Given the description of an element on the screen output the (x, y) to click on. 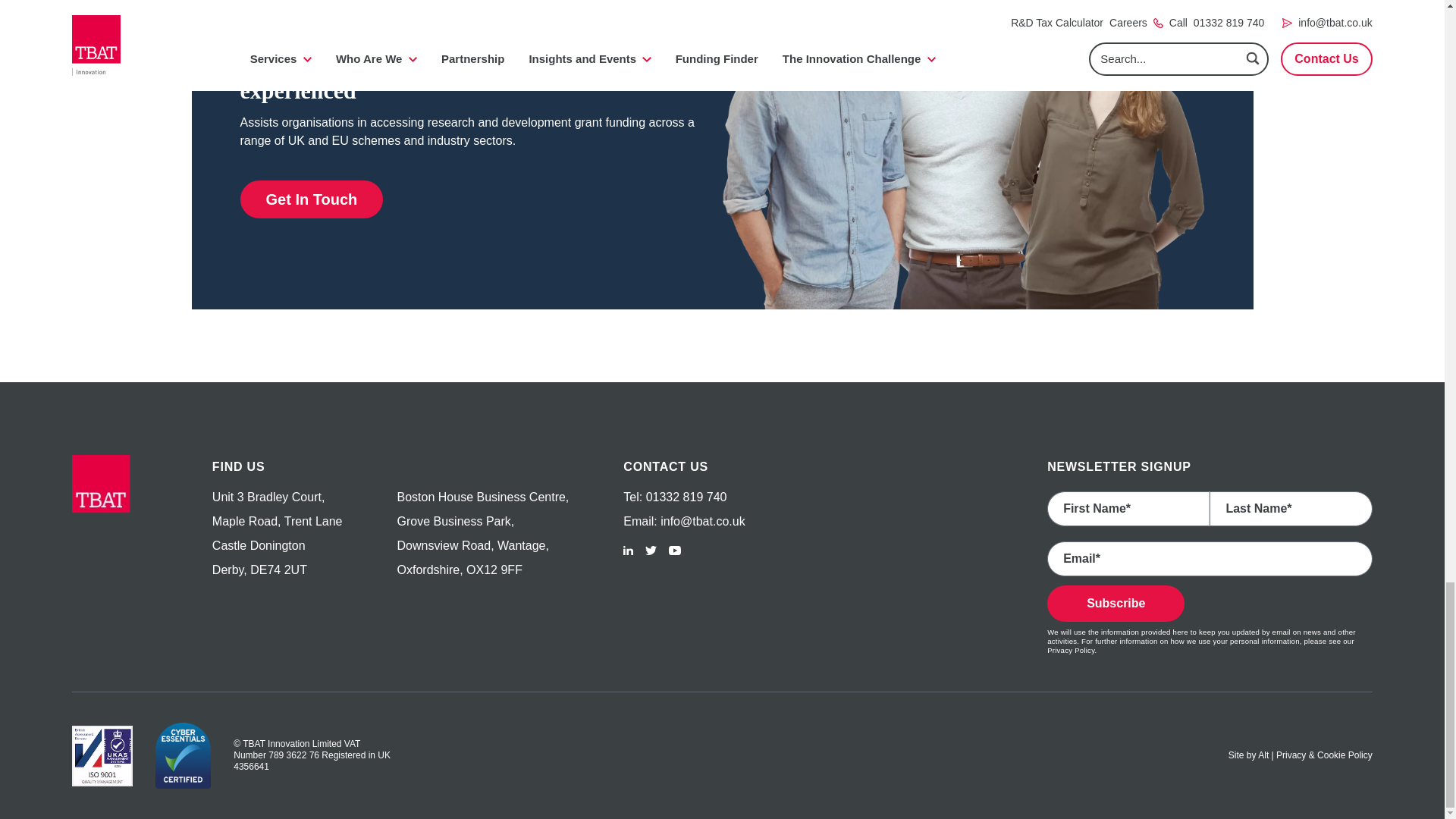
Subscribe (1115, 603)
